Given the description of an element on the screen output the (x, y) to click on. 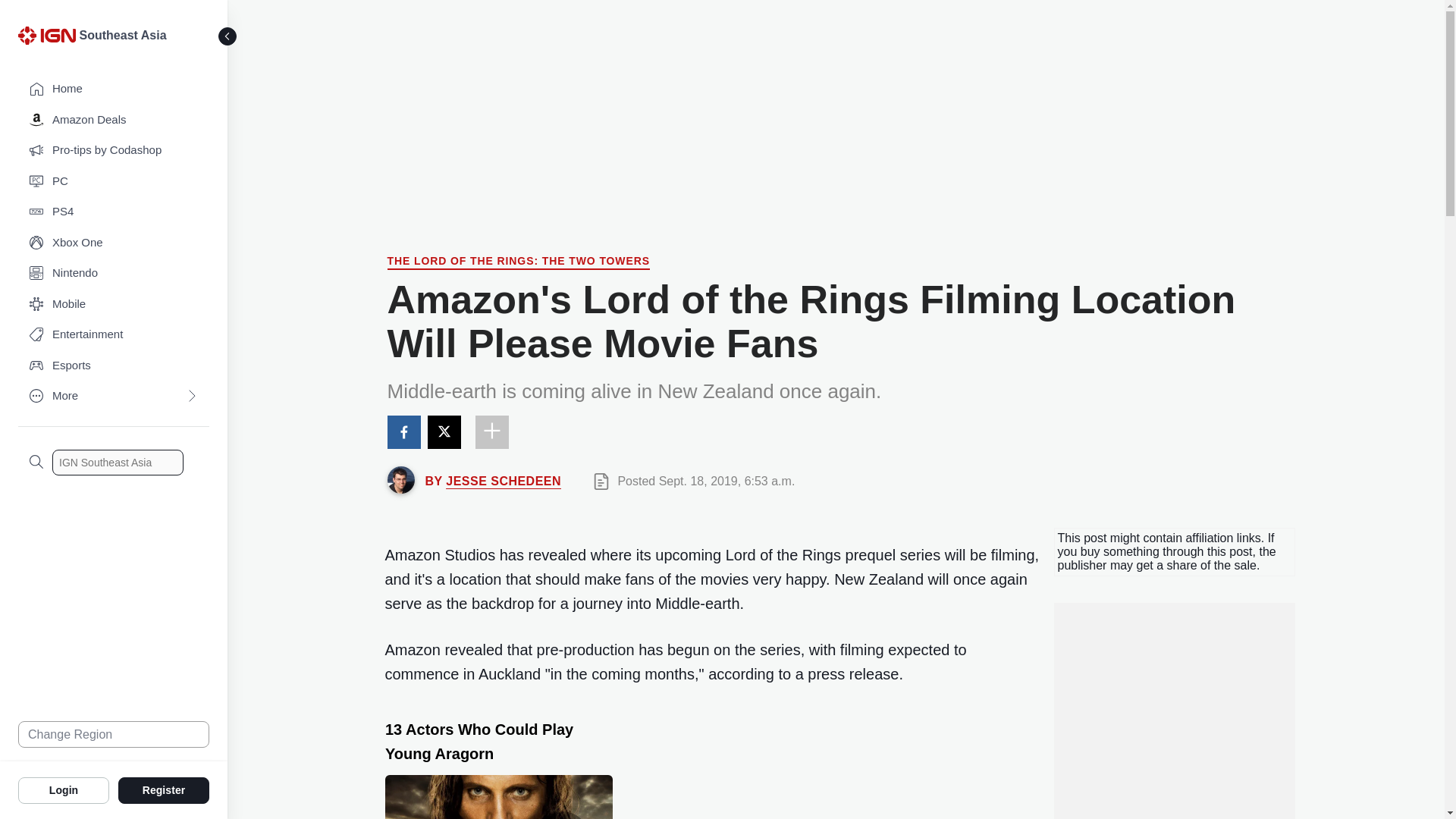
THE LORD OF THE RINGS: THE TWO TOWERS (518, 262)
IGN Logo (48, 39)
Register (163, 789)
The Lord of the Rings: The Two Towers (518, 262)
IGN Logo (46, 34)
Nintendo (113, 273)
Entertainment (113, 334)
JESSE SCHEDEEN (502, 481)
Xbox One (113, 242)
PC (113, 181)
